Given the description of an element on the screen output the (x, y) to click on. 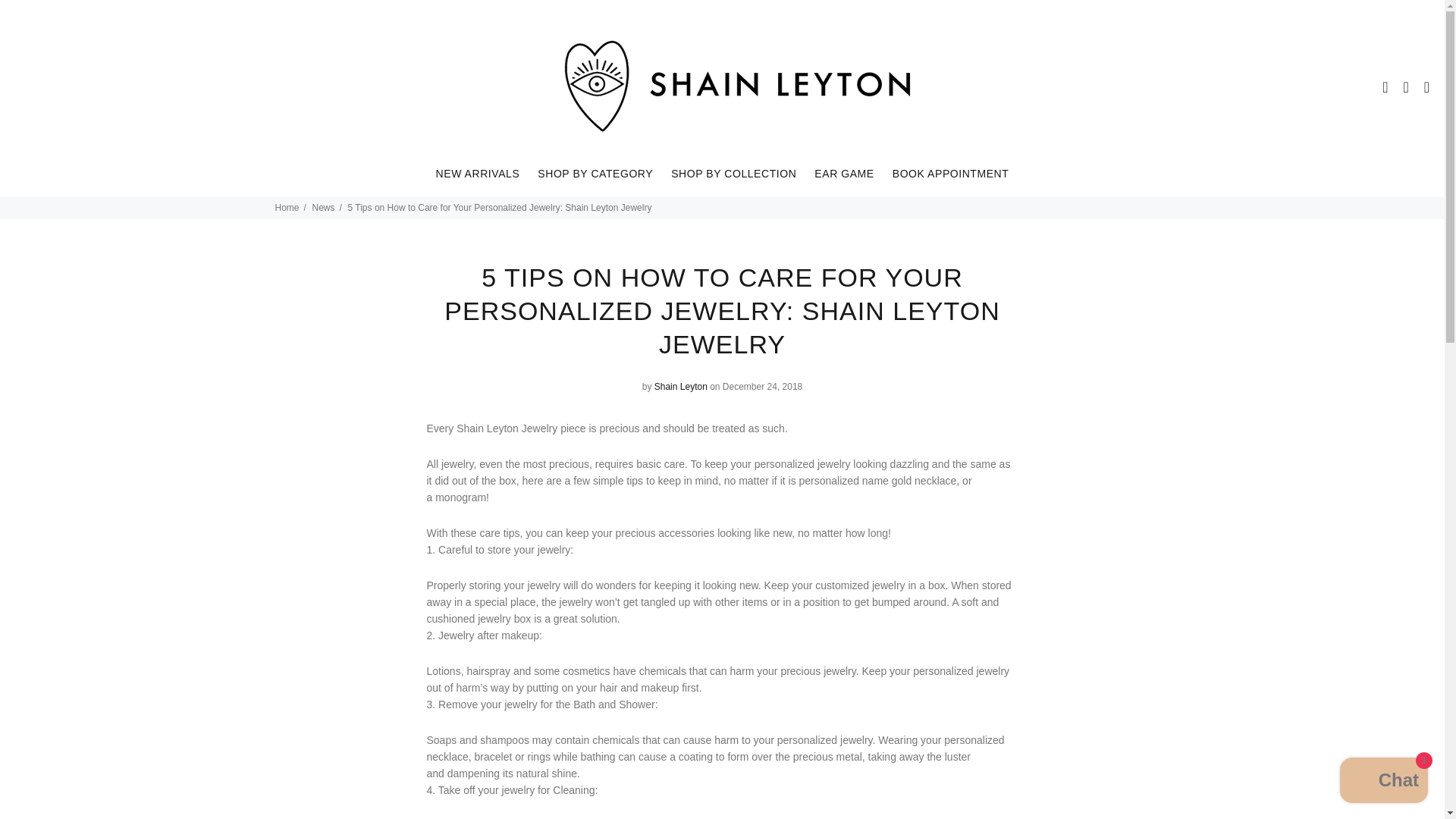
personalized name gold necklace (877, 480)
Shopify online store chat (1383, 781)
monogram gold ring (460, 497)
